Given the description of an element on the screen output the (x, y) to click on. 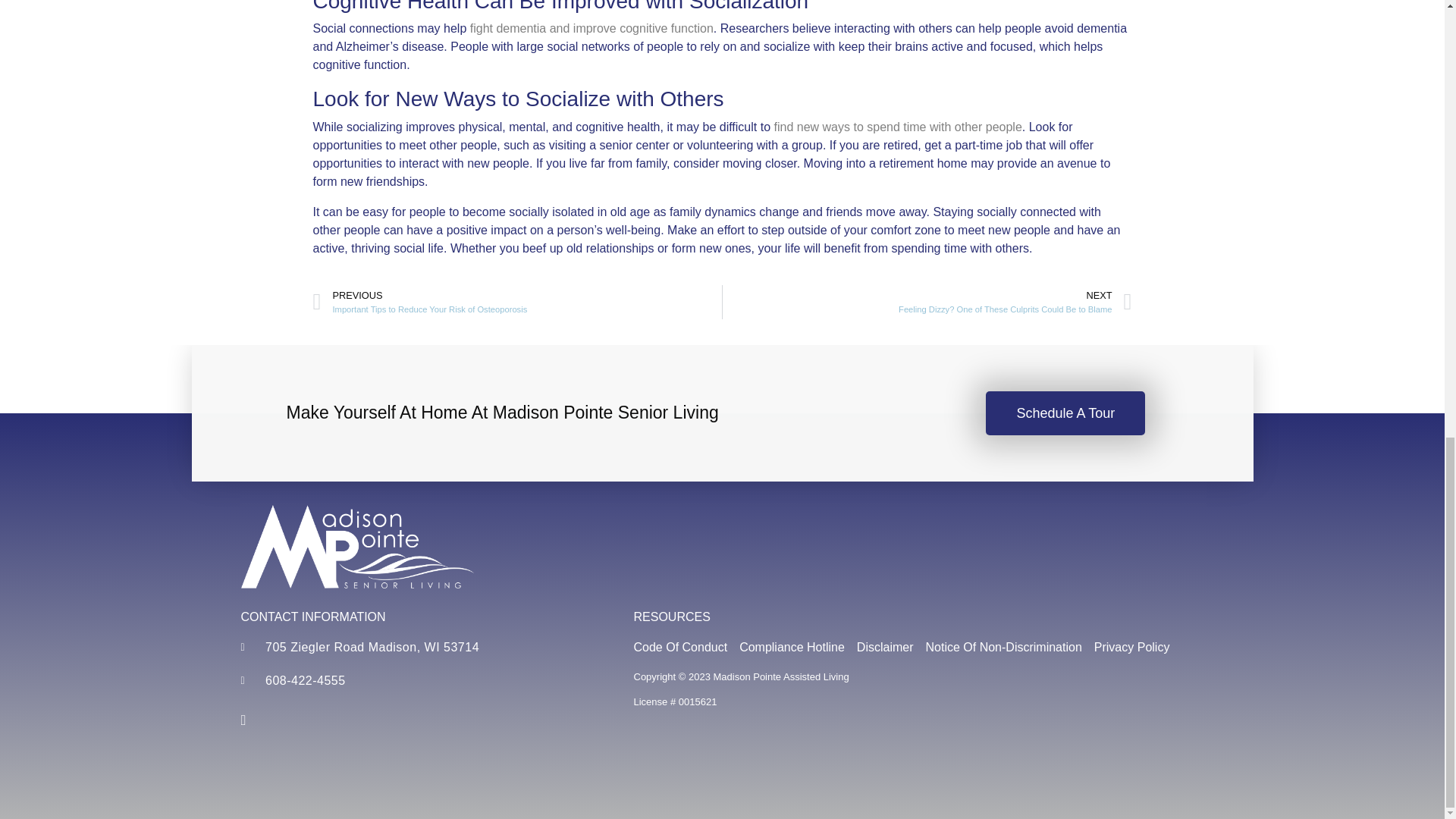
Code Of Conduct (680, 647)
find new ways to spend time with other people (897, 126)
Privacy Policy (1132, 647)
608-422-4555 (418, 680)
fight dementia and improve cognitive function (591, 28)
Disclaimer (927, 302)
Schedule A Tour (885, 647)
705 Ziegler Road Madison, WI 53714 (1064, 412)
Compliance Hotline (418, 647)
